Given the description of an element on the screen output the (x, y) to click on. 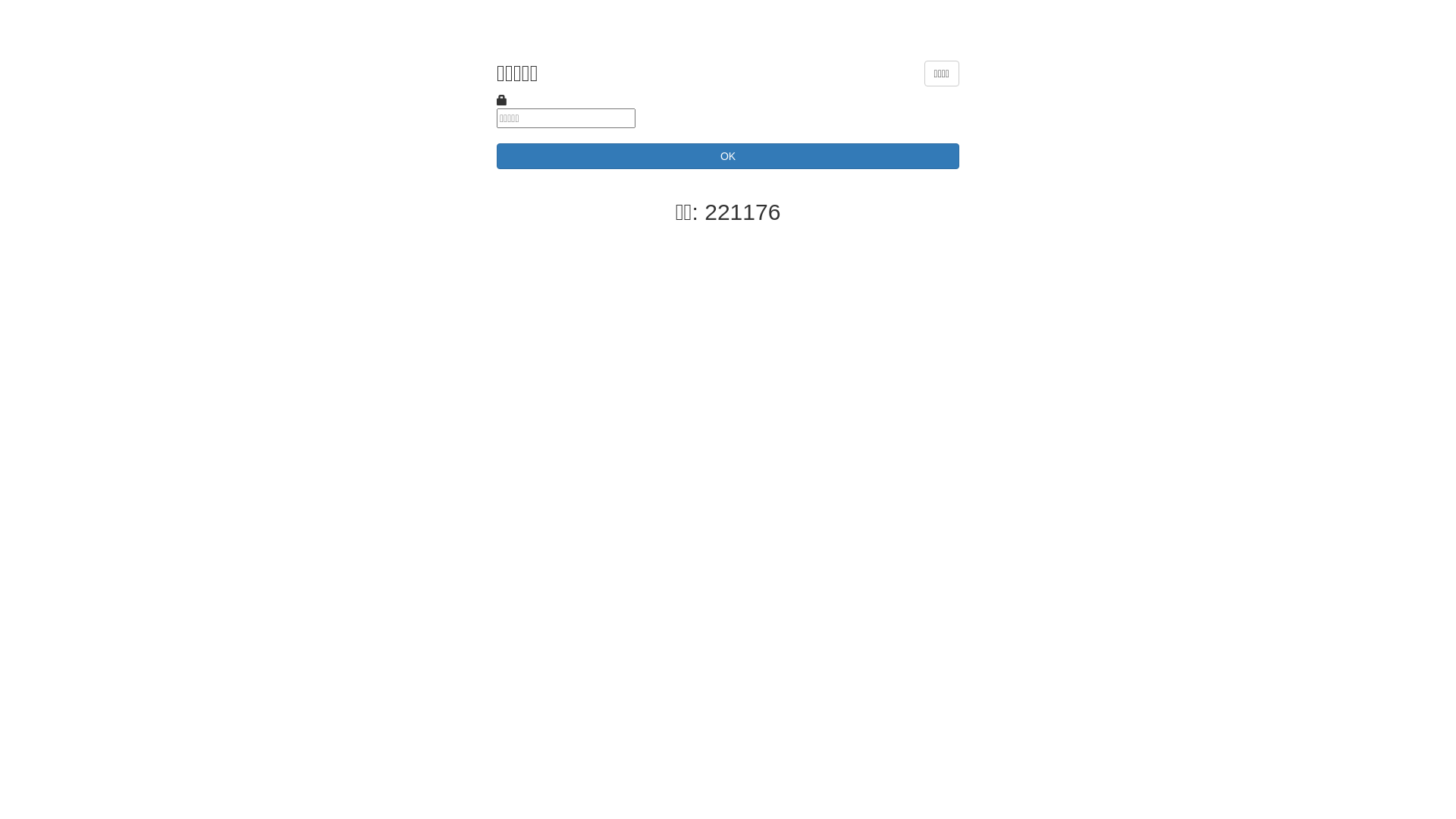
OK Element type: text (727, 156)
